Given the description of an element on the screen output the (x, y) to click on. 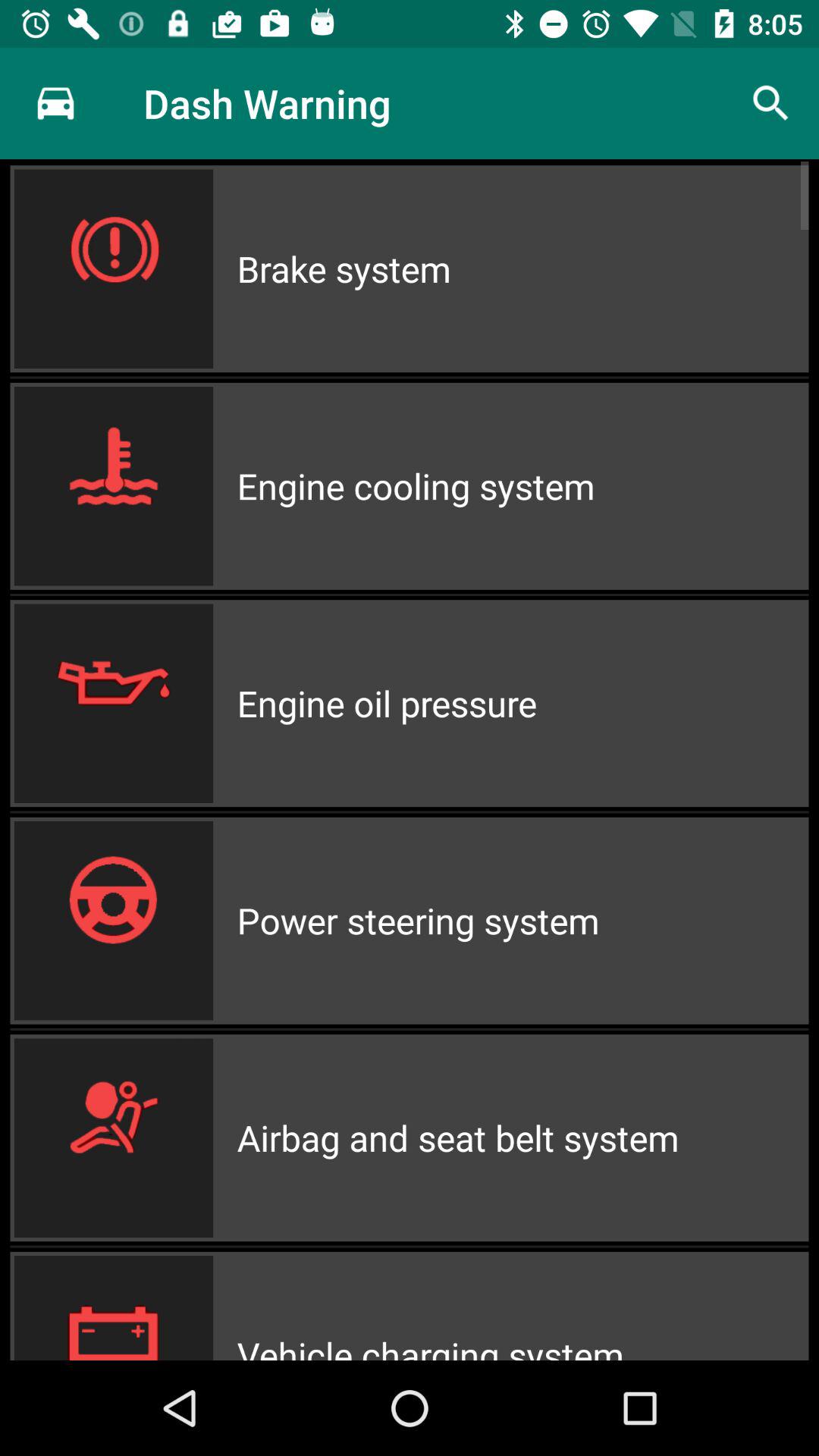
launch airbag and seat (522, 1137)
